Given the description of an element on the screen output the (x, y) to click on. 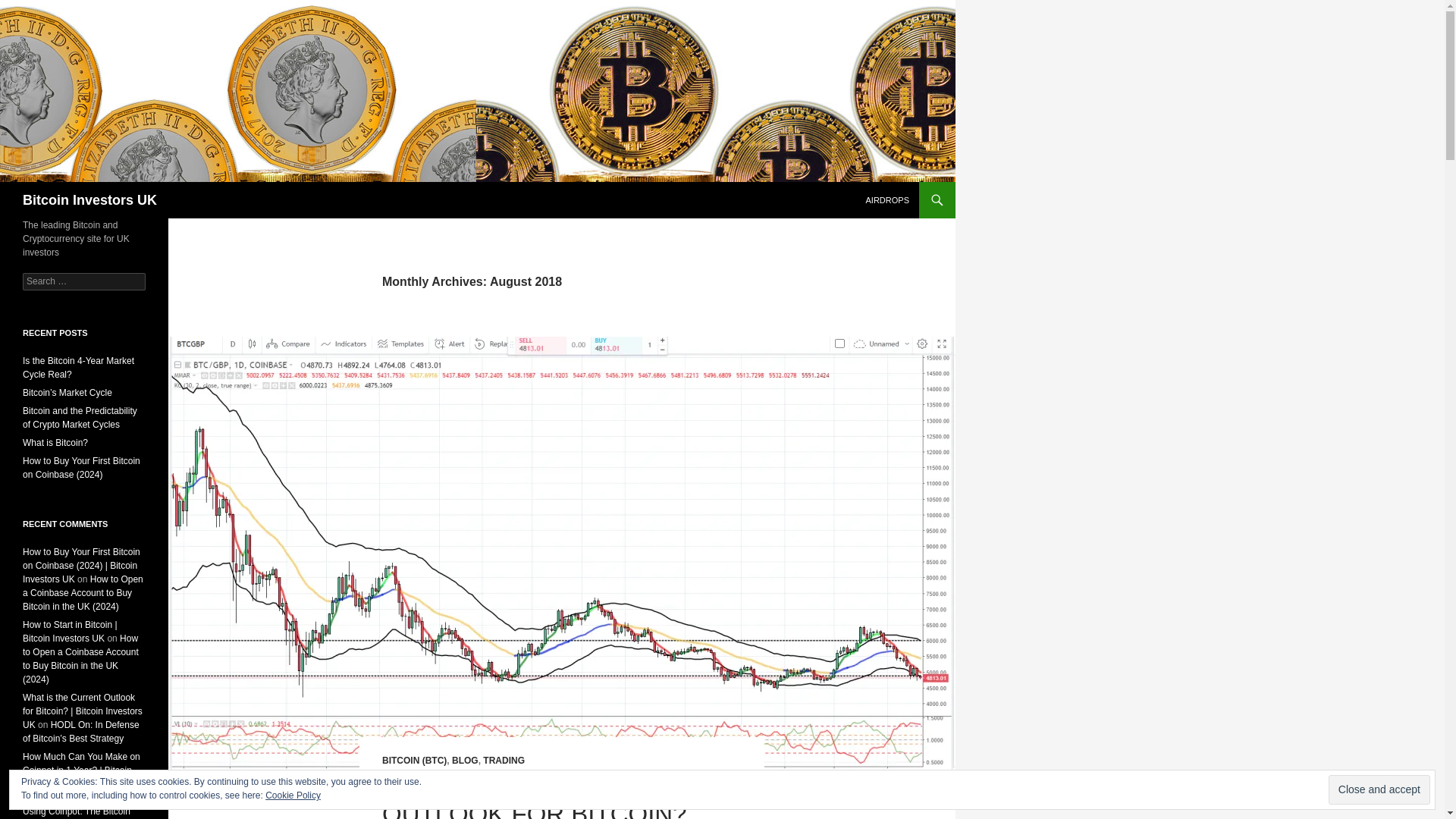
What is Bitcoin? (55, 442)
Close and accept (1378, 789)
Is the Bitcoin 4-Year Market Cycle Real? (78, 367)
Bitcoin Investors UK (90, 199)
TRADING (503, 760)
Search (30, 8)
AIRDROPS (887, 199)
WHAT IS THE CURRENT OUTLOOK FOR BITCOIN? (534, 796)
BLOG (465, 760)
Bitcoin and the Predictability of Crypto Market Cycles (79, 417)
